Given the description of an element on the screen output the (x, y) to click on. 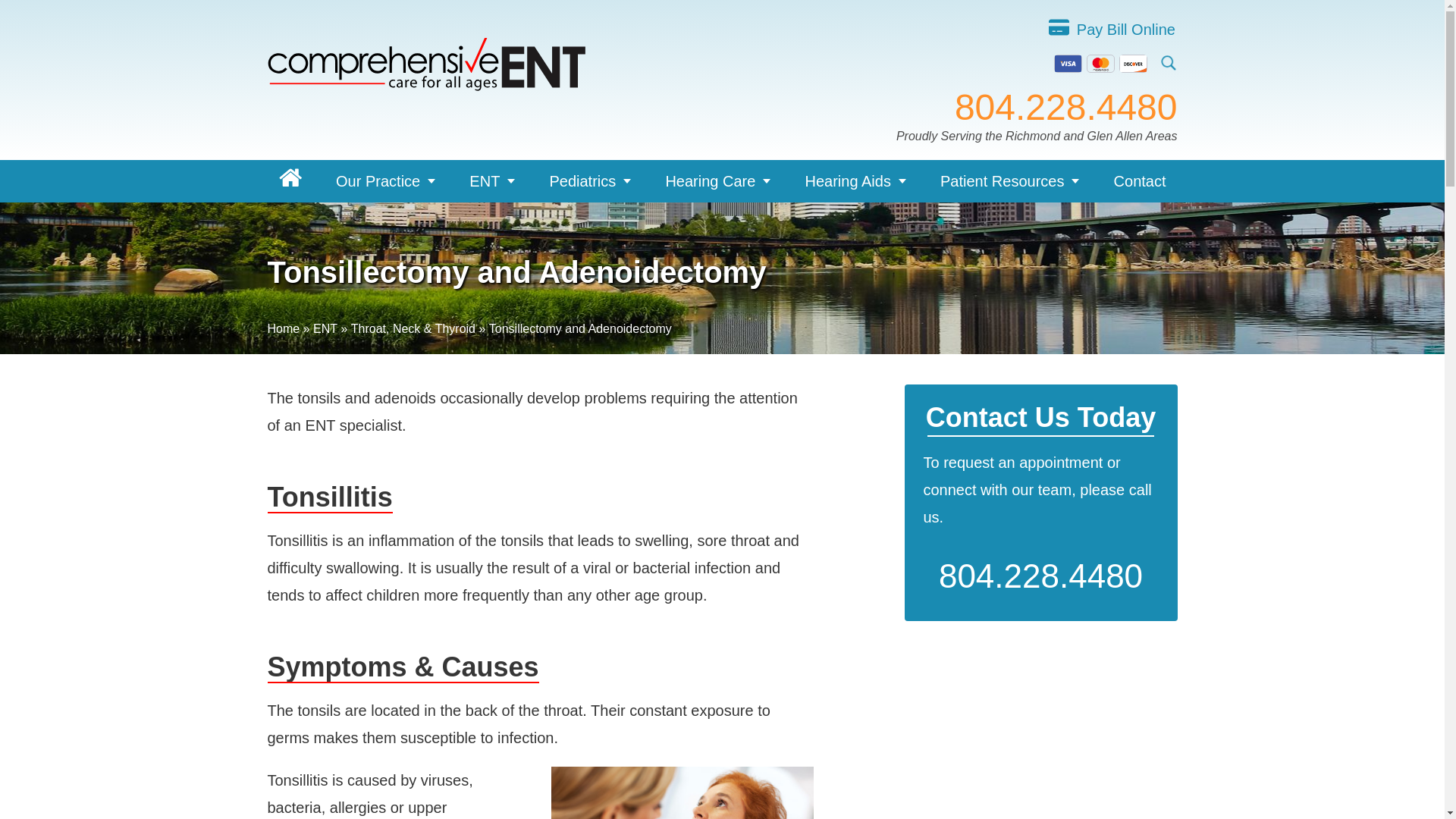
ENT (491, 180)
Pay Bill Online (1125, 29)
804.228.4480 (1066, 107)
Our Practice (385, 180)
tonsils-adenoids (682, 792)
